Given the description of an element on the screen output the (x, y) to click on. 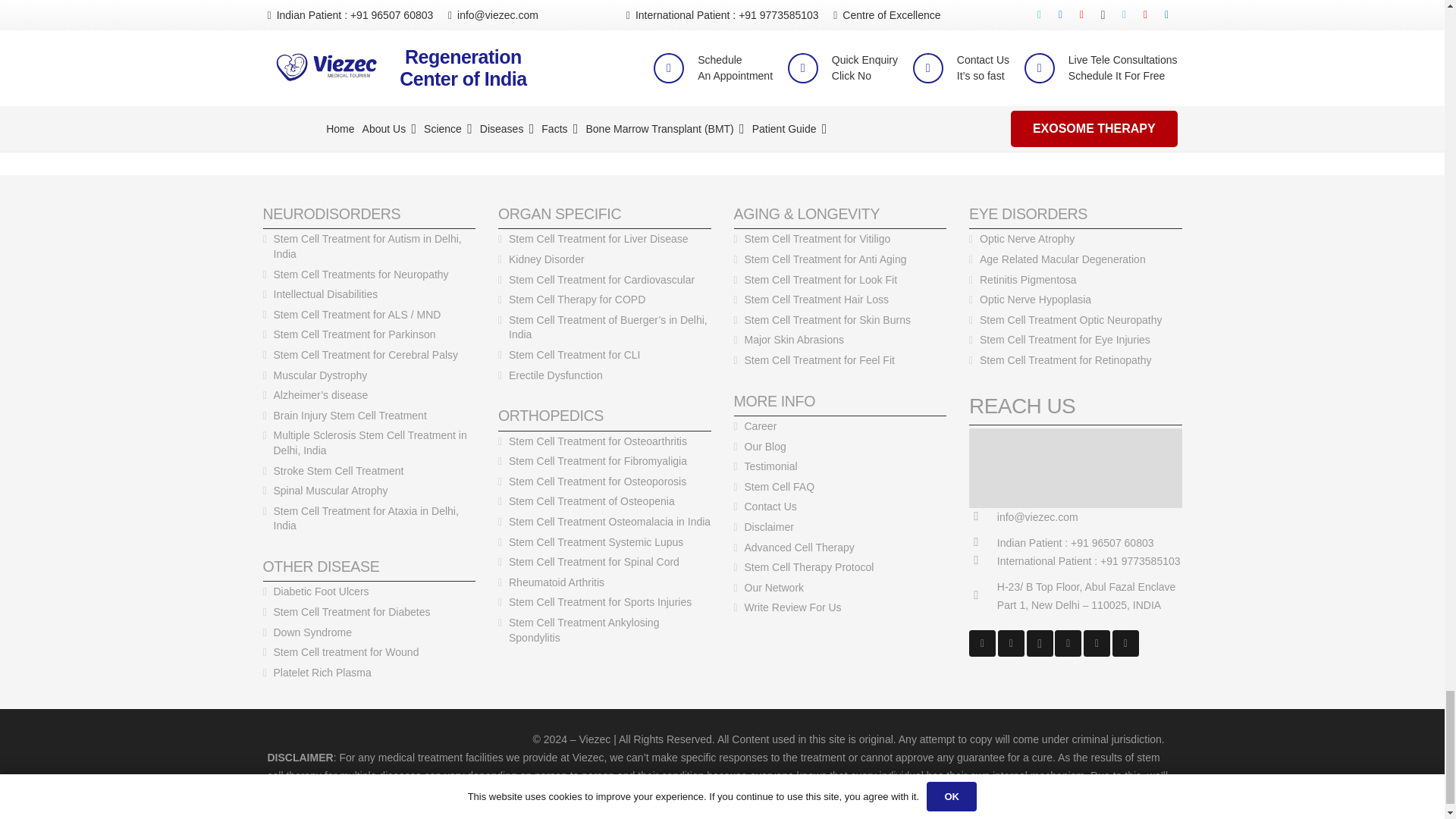
Stem Cell Treatment for Orthopedic (550, 415)
Organ Specific Stem Cell Treatment in India (559, 213)
Stem Cell Treatment of Neurodisorder in India (331, 213)
